Given the description of an element on the screen output the (x, y) to click on. 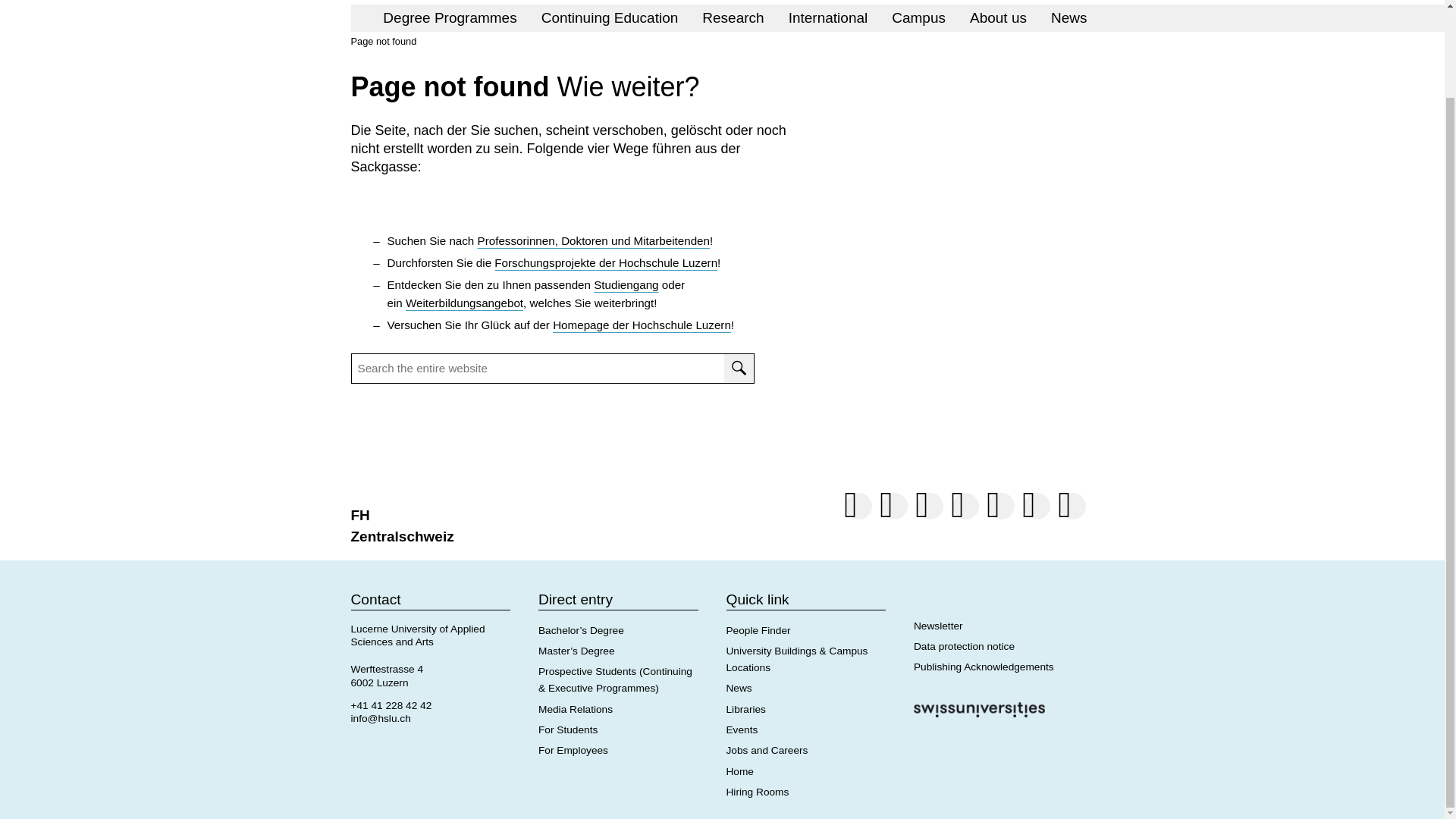
Homepage der Hochschule Luzern (641, 324)
Instagram (858, 507)
Studiengang (626, 284)
YouTube (1036, 507)
Engineering and Architecture (496, 2)
LinkedIn (893, 507)
Design, Film and Art (888, 2)
Professorinnen, Doktoren und Mitarbeitenden (593, 240)
Degree Programmes (449, 17)
Research (731, 17)
